Given the description of an element on the screen output the (x, y) to click on. 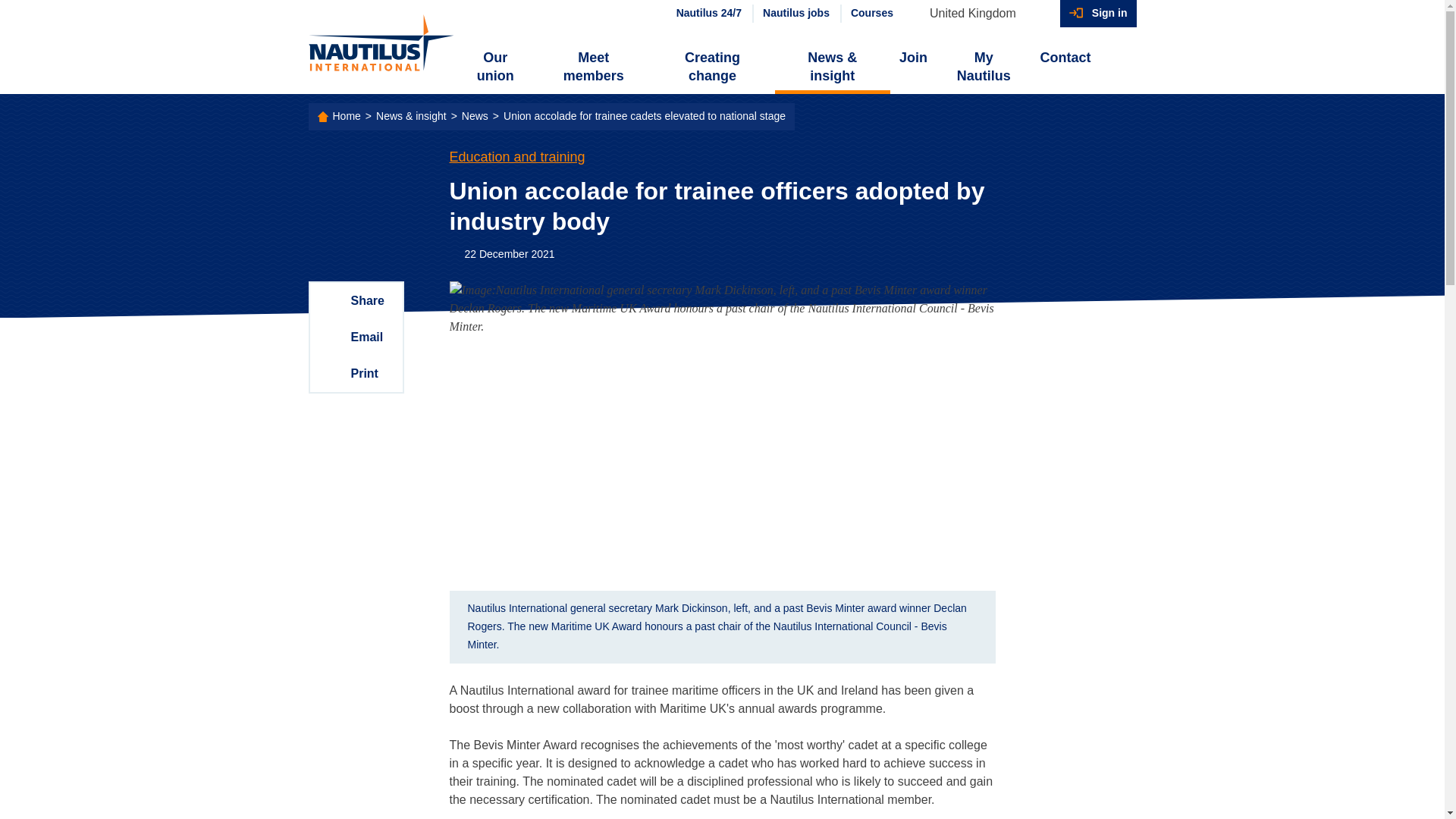
My Nautilus (983, 67)
Our union (495, 67)
Nautilus jobs (795, 13)
Join (912, 58)
Creating change (711, 67)
United Kingdom (979, 13)
Courses (871, 13)
Contact (1065, 58)
Meet members (593, 67)
